Given the description of an element on the screen output the (x, y) to click on. 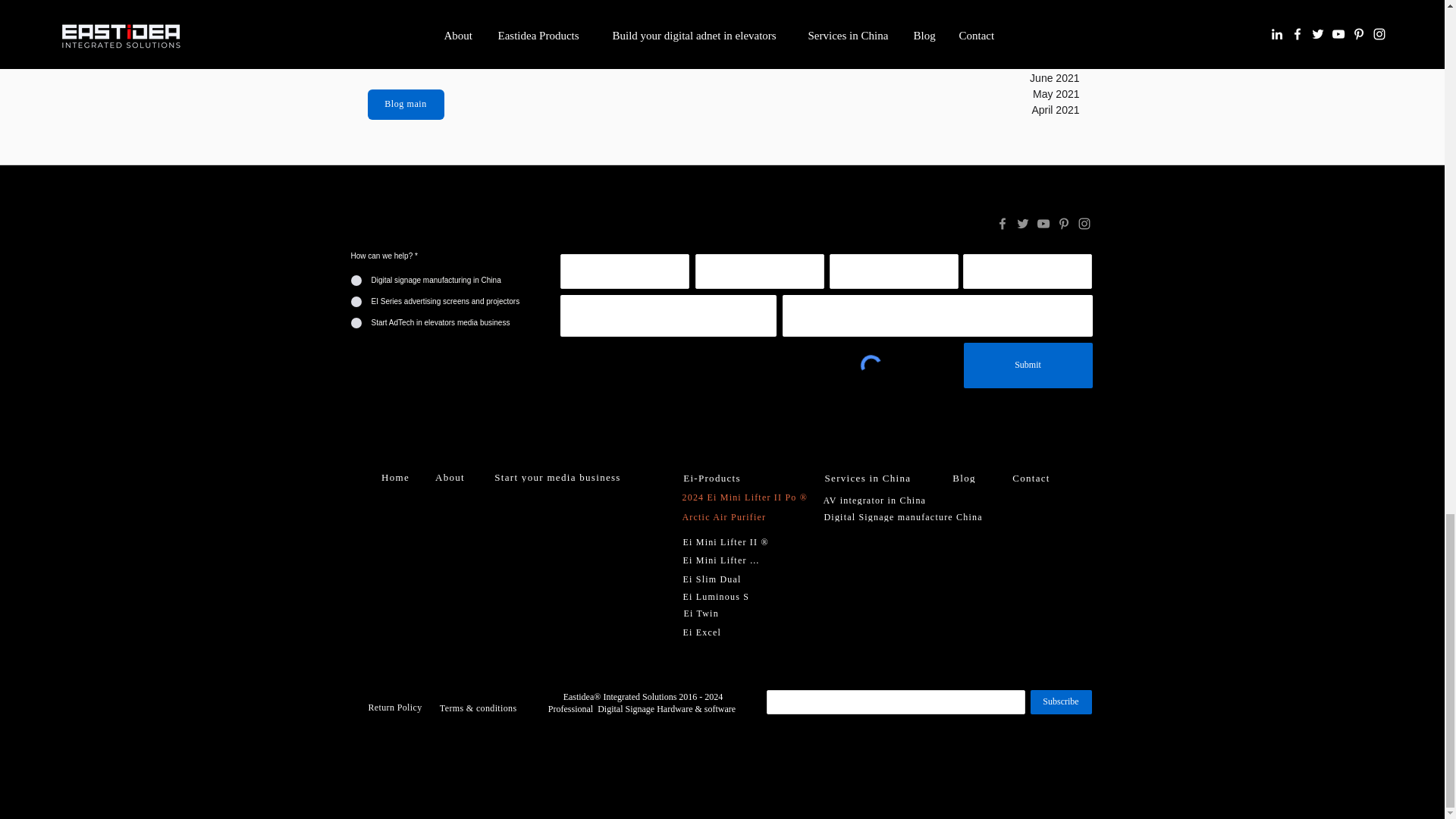
November 2023 (1028, 3)
Blog main (405, 104)
June 2021 (1028, 78)
June 2022 (1028, 62)
September 2023 (1028, 14)
November 2022 (1028, 46)
June 2023 (1028, 30)
